Given the description of an element on the screen output the (x, y) to click on. 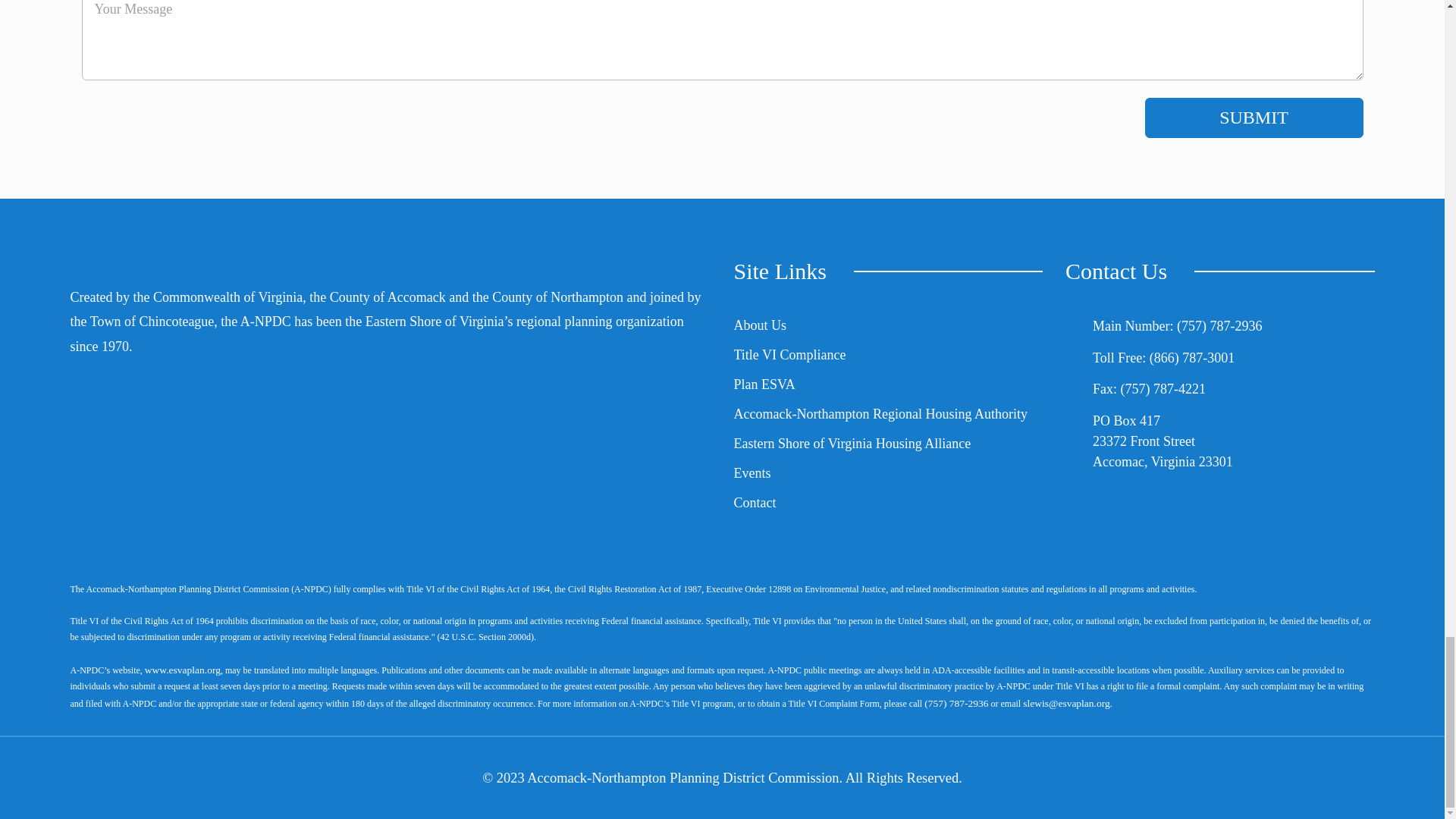
Submit (1253, 117)
